Given the description of an element on the screen output the (x, y) to click on. 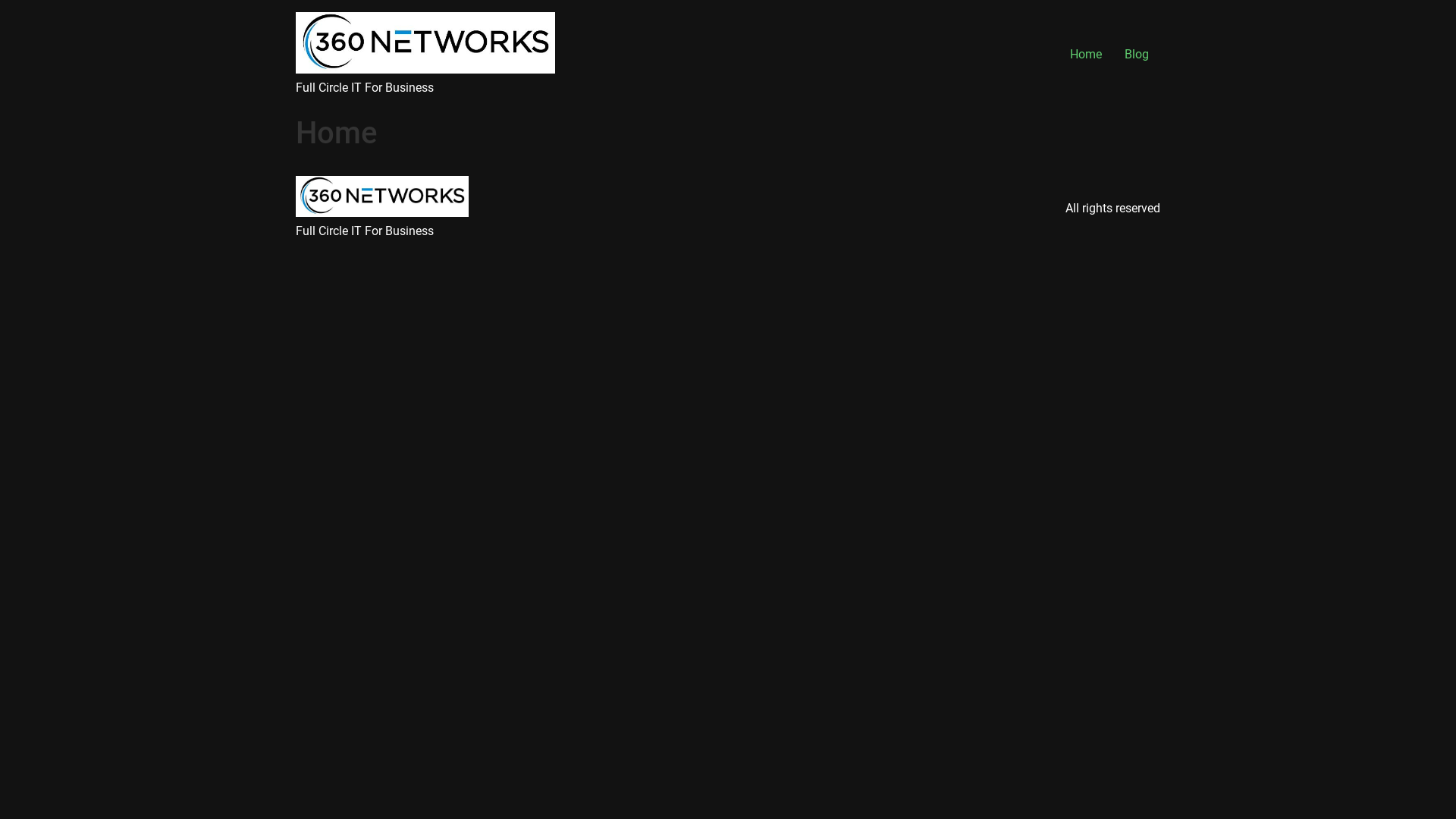
Blog Element type: text (1136, 54)
Home Element type: text (1085, 54)
